Given the description of an element on the screen output the (x, y) to click on. 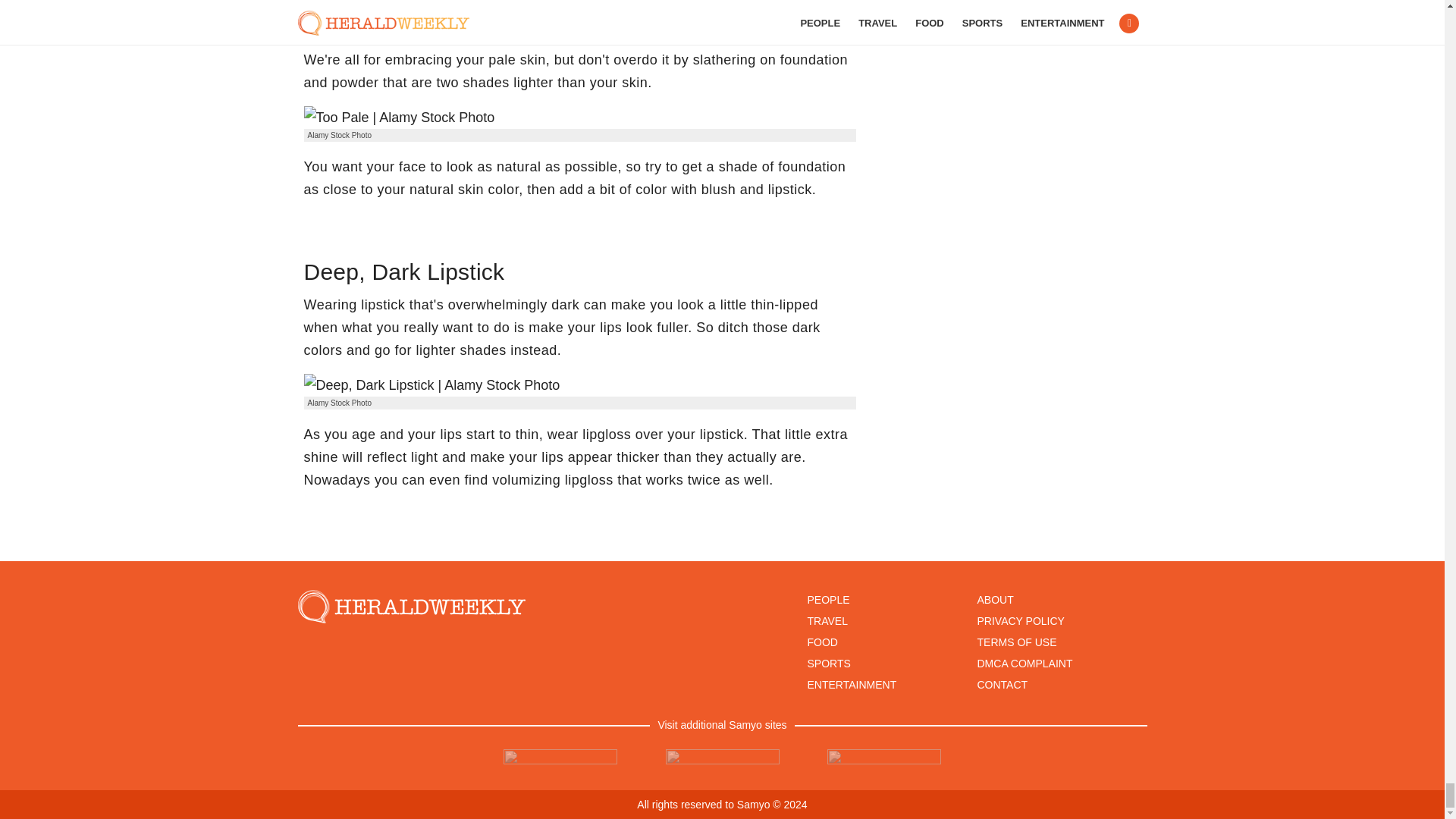
PRIVACY POLICY (1020, 621)
TRAVEL (826, 621)
PEOPLE (827, 599)
CONTACT (1001, 684)
TERMS OF USE (1016, 642)
FOOD (821, 642)
ABOUT (994, 599)
DMCA COMPLAINT (1023, 663)
SPORTS (828, 663)
ENTERTAINMENT (851, 684)
